Given the description of an element on the screen output the (x, y) to click on. 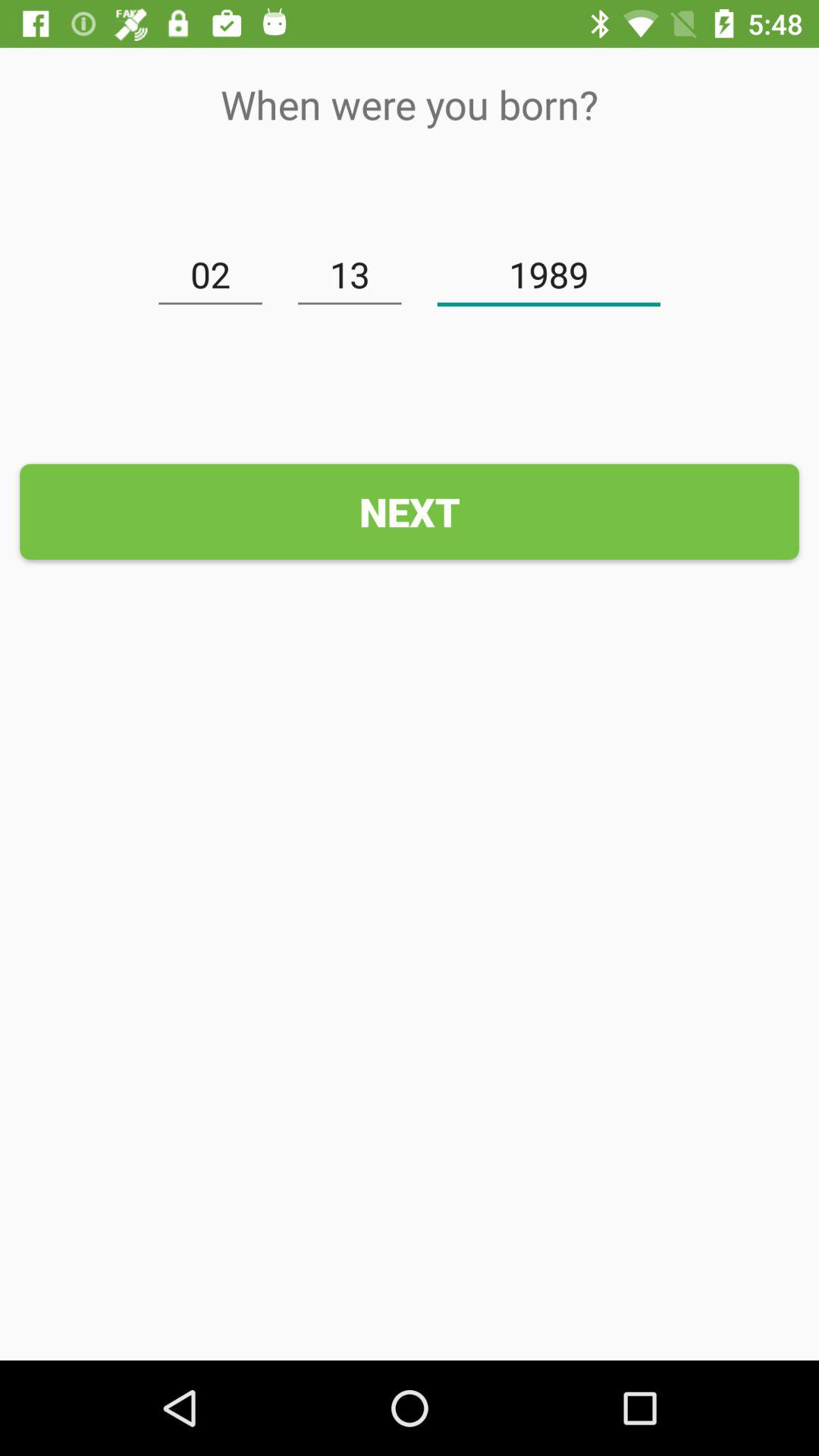
press the icon to the right of the 13 icon (548, 275)
